Given the description of an element on the screen output the (x, y) to click on. 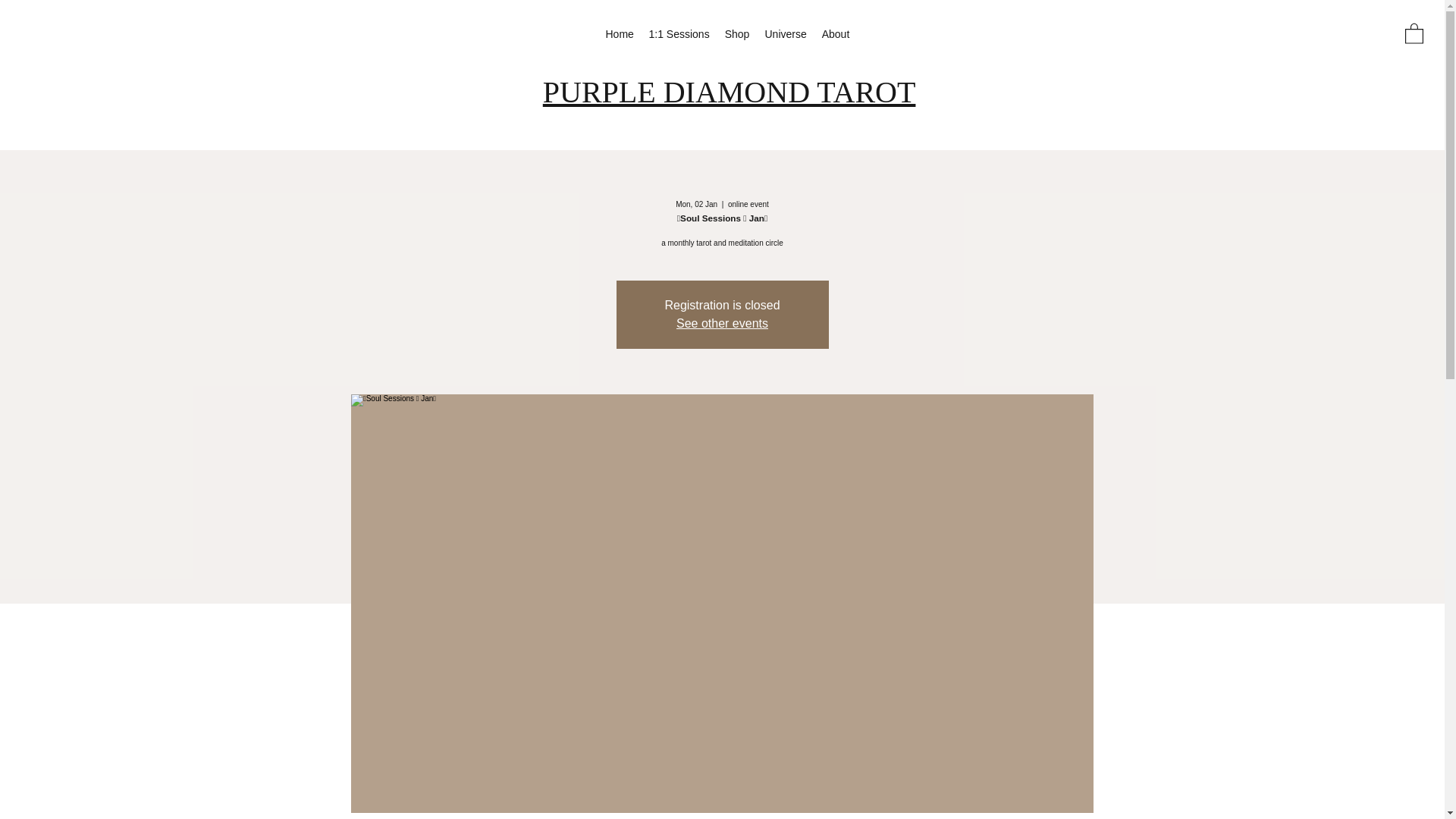
Home (618, 34)
Shop (737, 34)
PURPLE DIAMOND TAROT (729, 91)
About (835, 34)
See other events (722, 323)
